Given the description of an element on the screen output the (x, y) to click on. 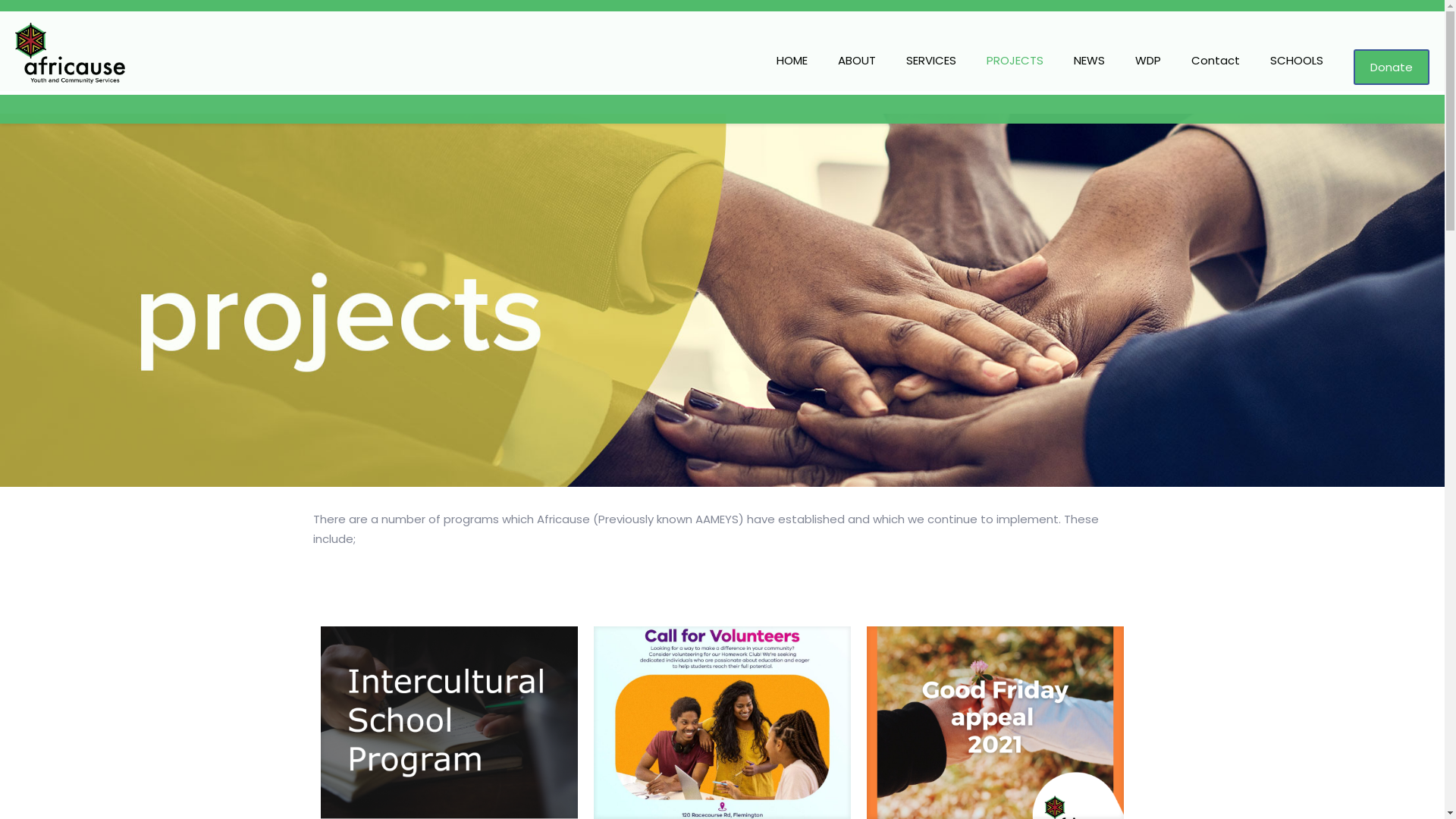
Donate Element type: text (1391, 66)
PROJECTS Element type: text (1014, 60)
HOME Element type: text (791, 60)
SERVICES Element type: text (931, 60)
Donate Element type: text (1391, 66)
ABOUT Element type: text (856, 60)
SCHOOLS Element type: text (1296, 60)
Contact Element type: text (1215, 60)
WDP Element type: text (1148, 60)
NEWS Element type: text (1089, 60)
